Given the description of an element on the screen output the (x, y) to click on. 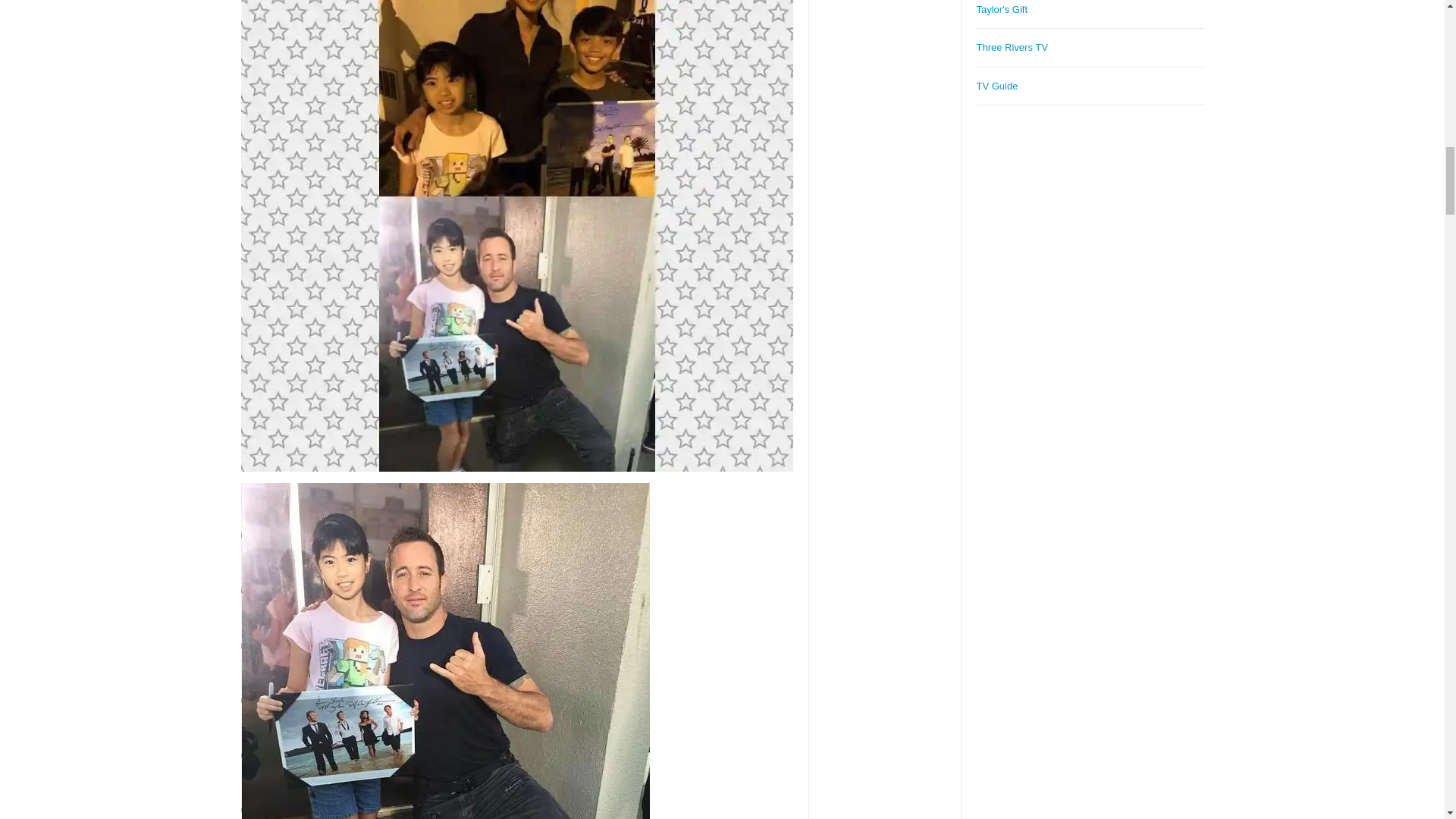
Three Rivers TV Show (1012, 47)
Alex Oloughlin TV Guide (996, 85)
